Given the description of an element on the screen output the (x, y) to click on. 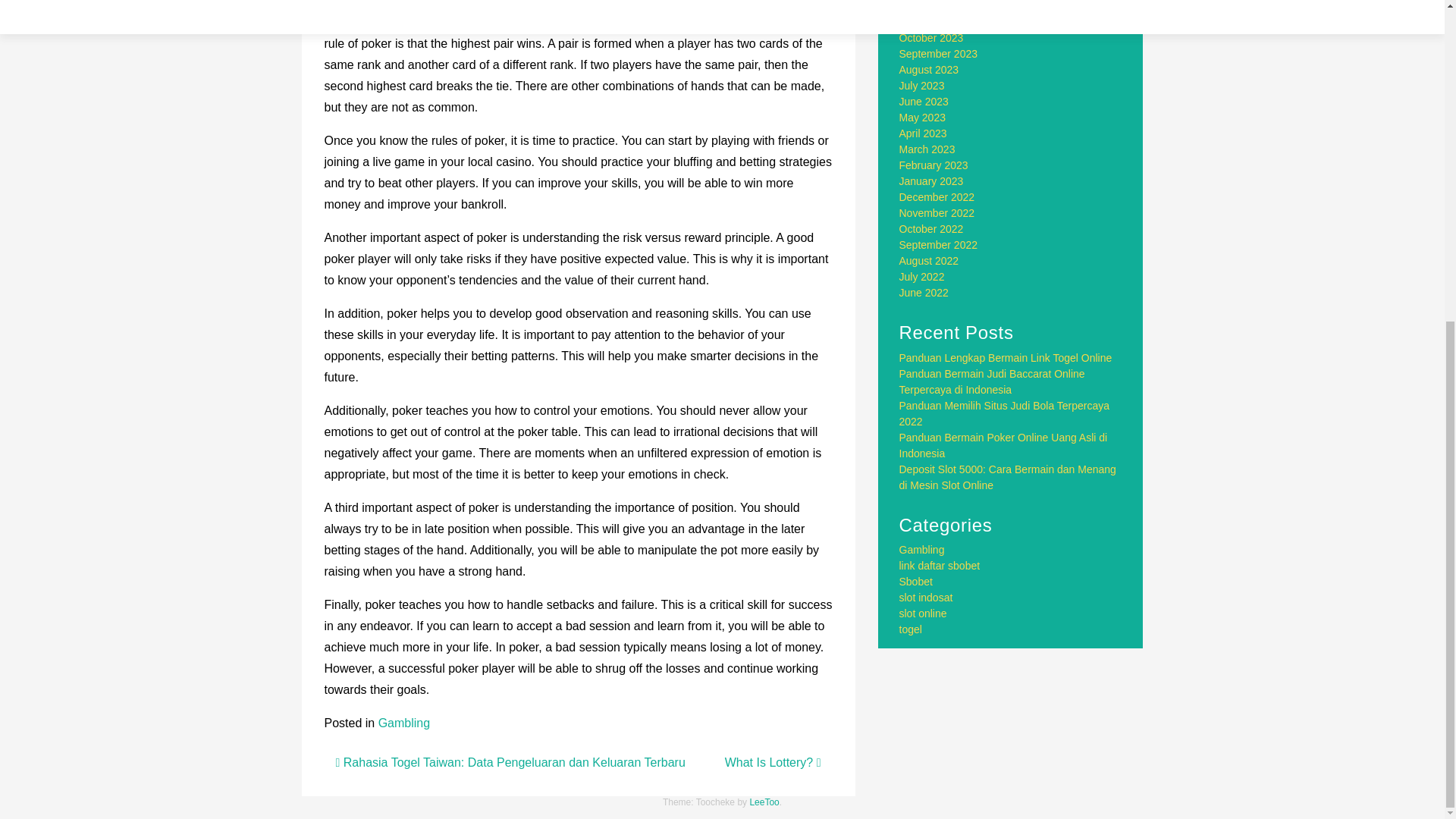
January 2023 (931, 181)
November 2022 (937, 213)
Gambling (403, 722)
June 2023 (924, 101)
 Rahasia Togel Taiwan: Data Pengeluaran dan Keluaran Terbaru (509, 762)
December 2022 (937, 196)
June 2022 (924, 292)
September 2022 (938, 244)
February 2023 (933, 164)
August 2023 (929, 69)
November 2023 (937, 21)
What Is Lottery?  (773, 762)
September 2023 (938, 53)
Panduan Bermain Judi Baccarat Online Terpercaya di Indonesia (991, 381)
Panduan Bermain Poker Online Uang Asli di Indonesia (1003, 445)
